Given the description of an element on the screen output the (x, y) to click on. 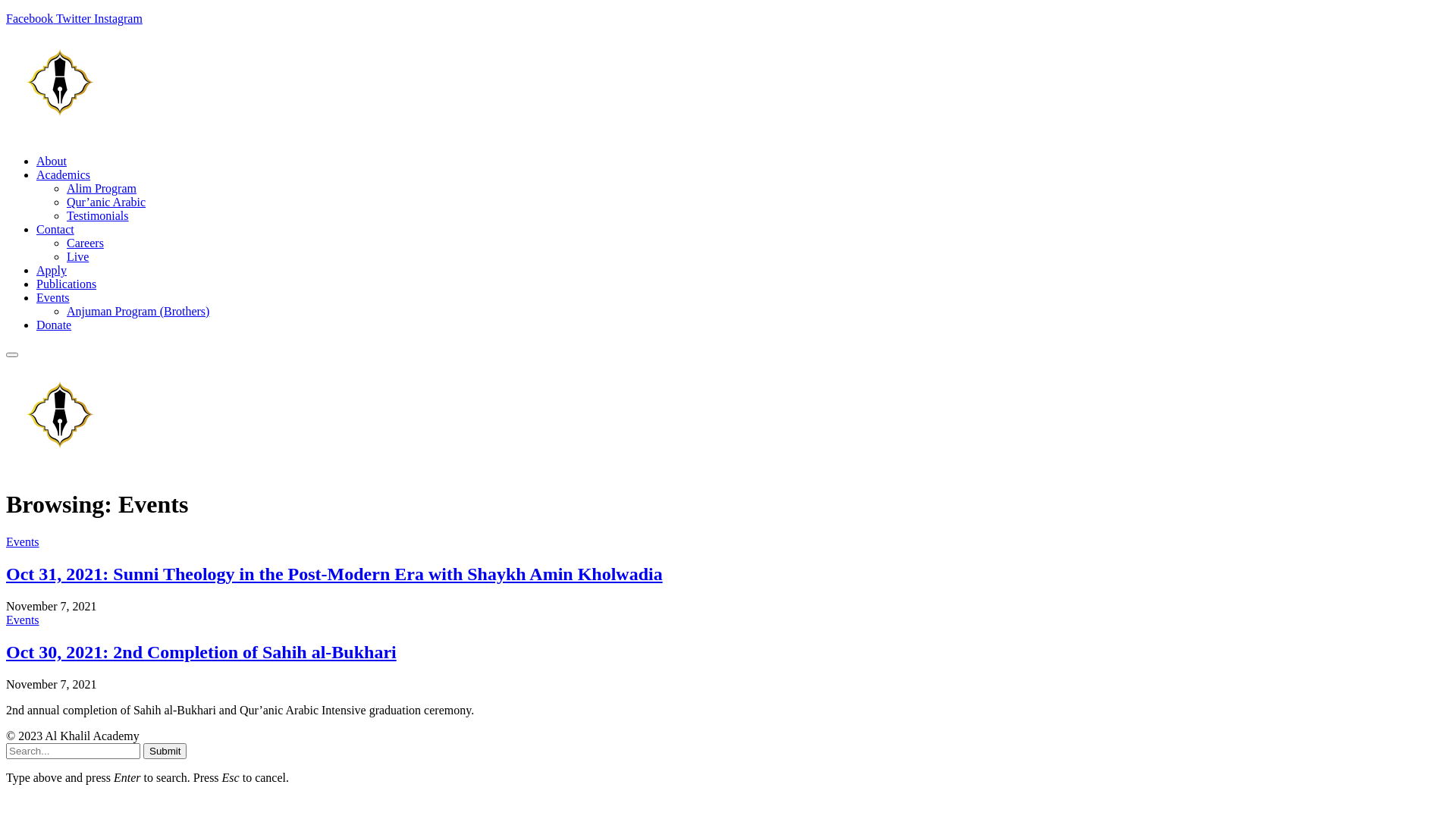
Facebook Element type: text (31, 18)
Careers Element type: text (84, 242)
Events Element type: text (52, 297)
Contact Element type: text (55, 228)
Events Element type: text (22, 541)
About Element type: text (51, 160)
Al Khalil Academy Element type: hover (195, 467)
Academics Element type: text (63, 174)
Publications Element type: text (66, 283)
Events Element type: text (22, 619)
Instagram Element type: text (118, 18)
Al Khalil Academy Element type: hover (195, 134)
Submit Element type: text (164, 751)
Twitter Element type: text (75, 18)
Live Element type: text (77, 256)
Anjuman Program (Brothers) Element type: text (137, 310)
Alim Program Element type: text (101, 188)
Testimonials Element type: text (97, 215)
Apply Element type: text (51, 269)
Donate Element type: text (53, 324)
Oct 30, 2021: 2nd Completion of Sahih al-Bukhari Element type: text (201, 652)
